Given the description of an element on the screen output the (x, y) to click on. 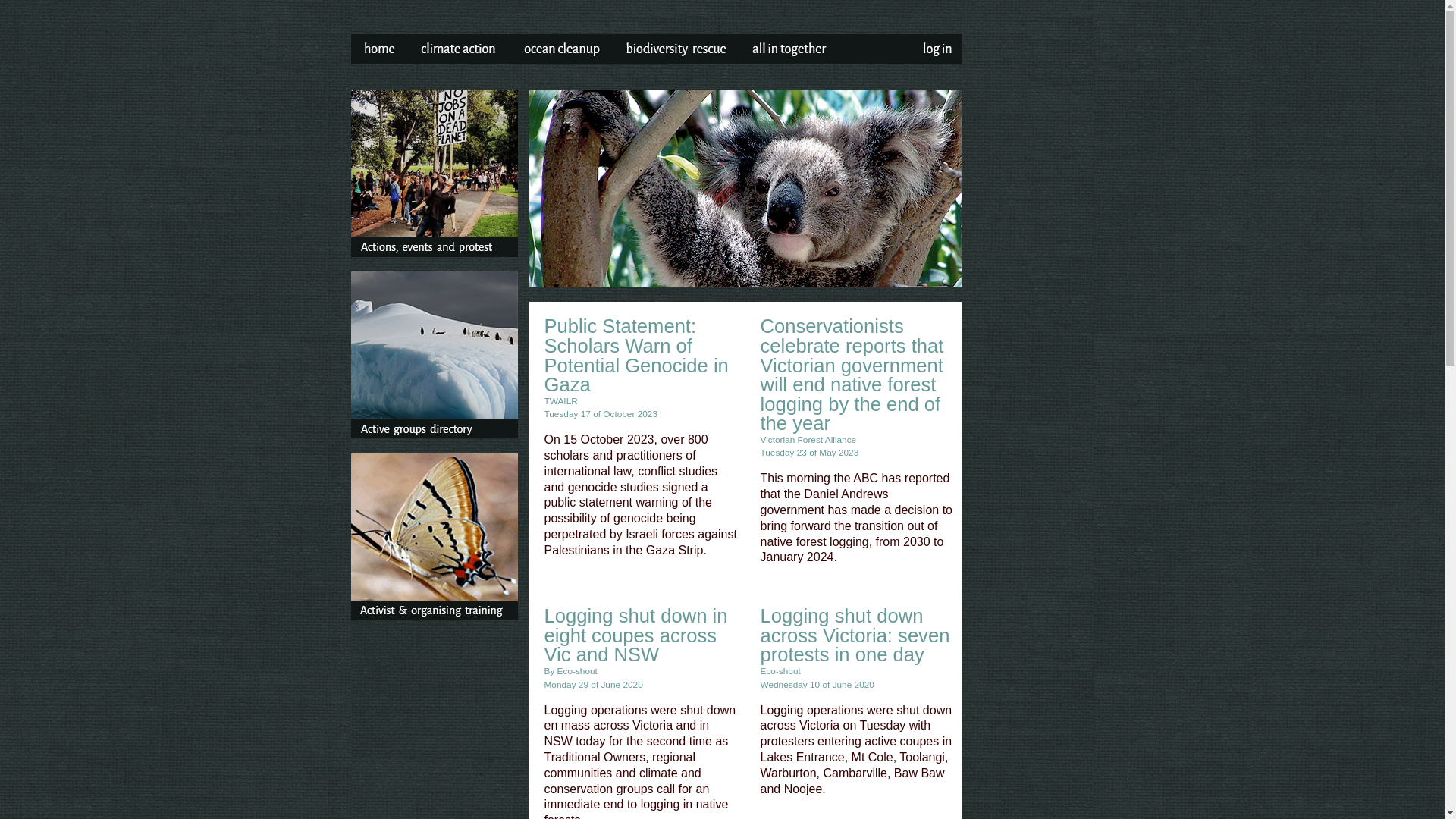
Logging shut down in eight coupes across Vic and NSW Element type: text (636, 631)
Logging shut down across Victoria: seven protests in one day Element type: text (854, 631)
Jump to navigation Element type: text (722, 2)
Photo by M Kuhn Element type: hover (745, 188)
